Given the description of an element on the screen output the (x, y) to click on. 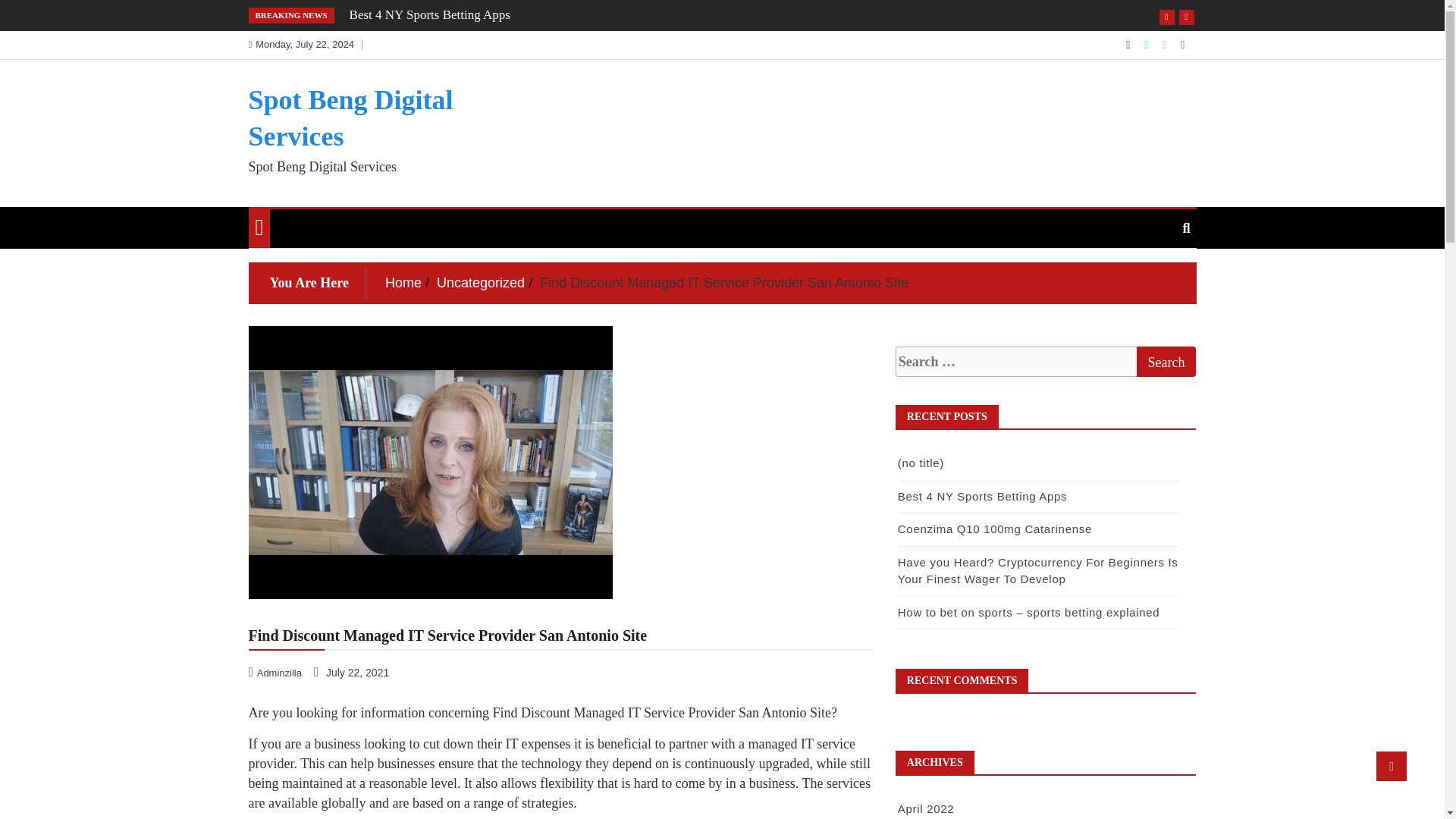
Uncategorized (480, 282)
Adminzilla (276, 672)
July 22, 2021 (352, 672)
Best 4 NY Sports Betting Apps (430, 14)
Home (403, 282)
Search (1165, 361)
Spot Beng Digital Services (350, 118)
Search (1165, 361)
